Given the description of an element on the screen output the (x, y) to click on. 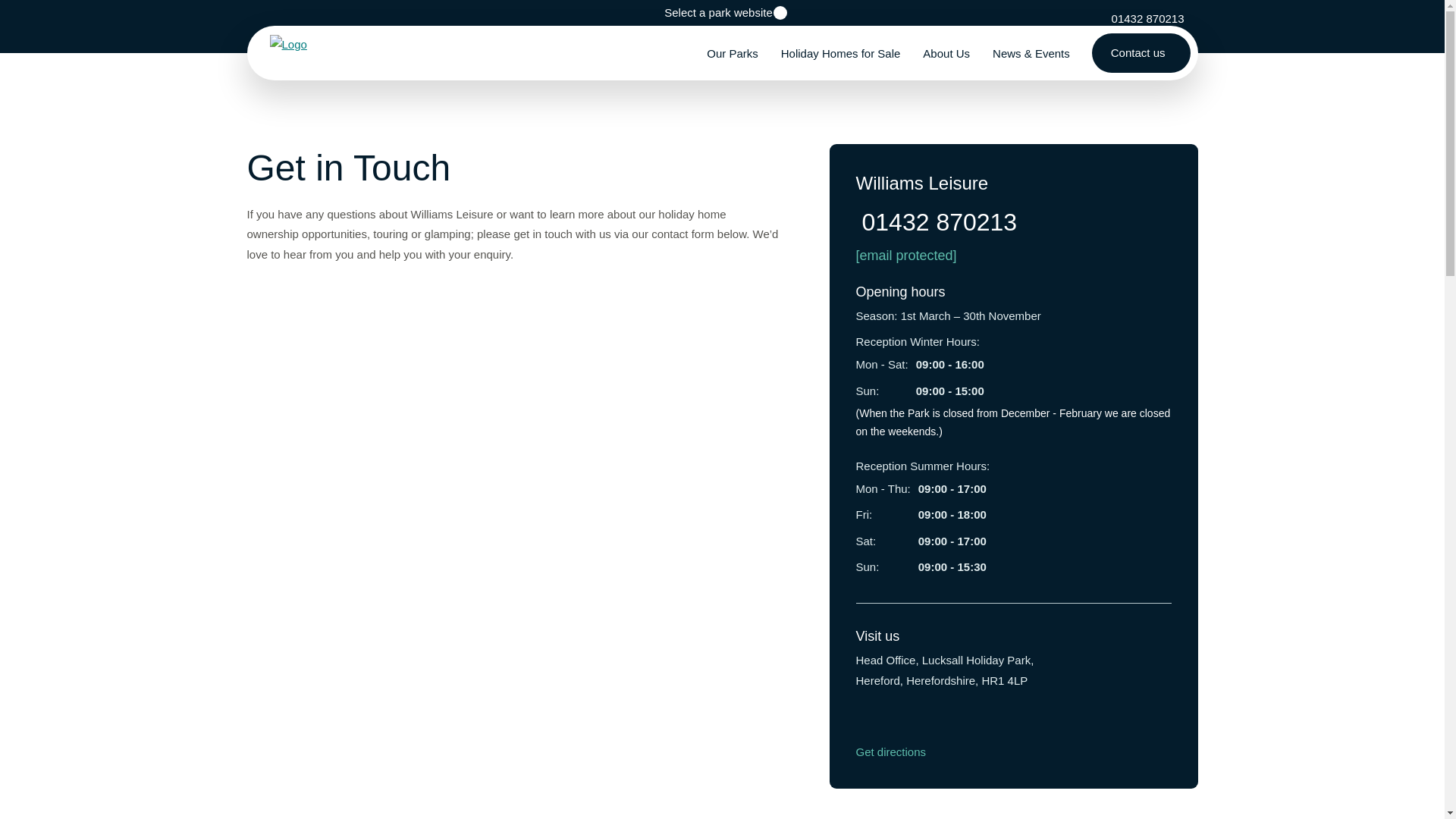
Holiday Homes for Sale (841, 52)
01432 870213 (1145, 18)
About Us (946, 52)
Contact us (1141, 52)
Get directions (893, 751)
Our Parks (732, 52)
01432 870213 (1013, 221)
